Given the description of an element on the screen output the (x, y) to click on. 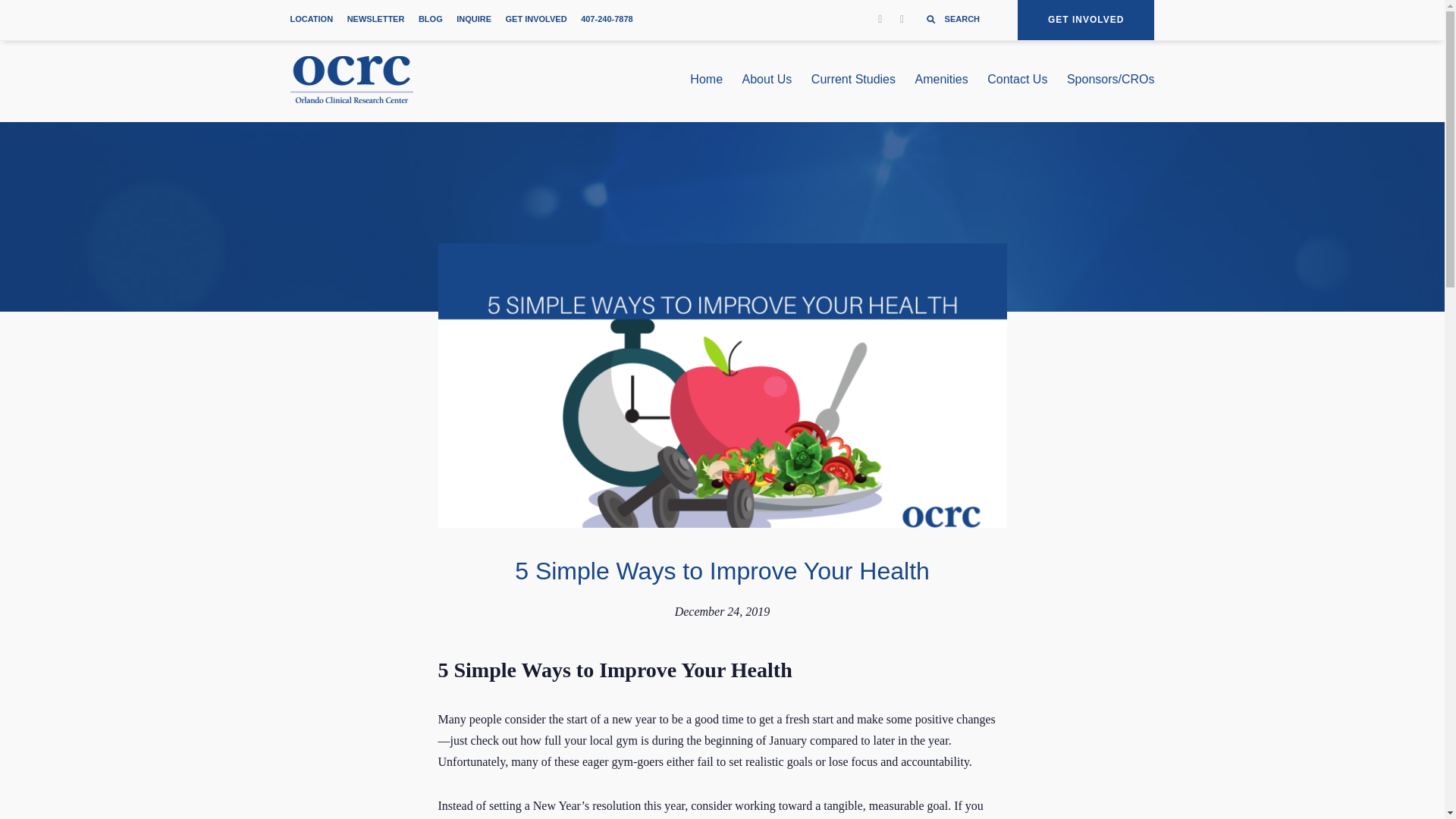
GET INVOLVED (1085, 20)
Get Involved (1085, 20)
Amenities (941, 81)
Current Studies (852, 81)
About Us (767, 81)
Contact Us (1016, 81)
407-240-7878 (606, 19)
Home (706, 81)
LOCATION (311, 19)
GET INVOLVED (536, 19)
